Given the description of an element on the screen output the (x, y) to click on. 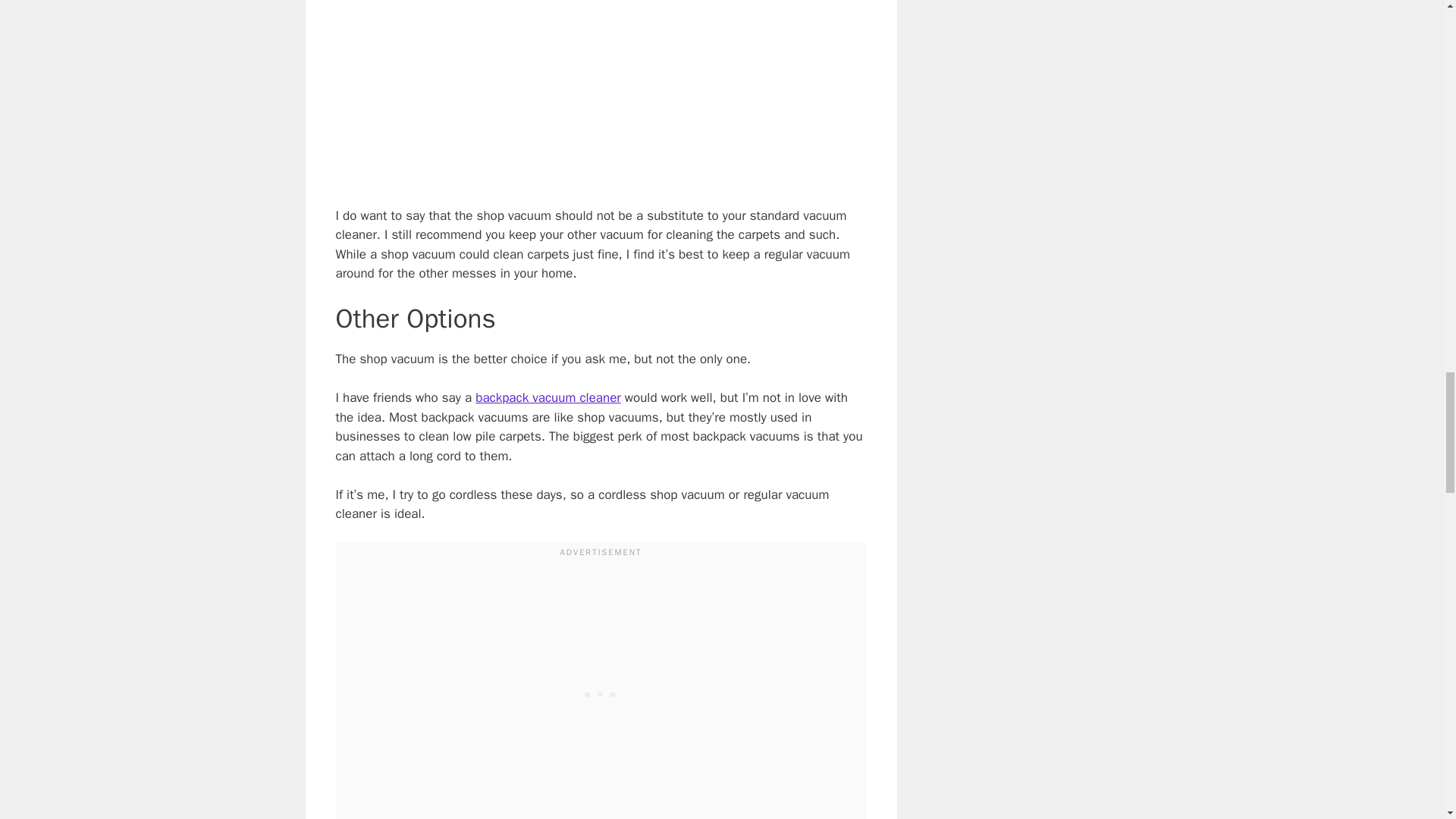
backpack vacuum cleaner (548, 397)
